Given the description of an element on the screen output the (x, y) to click on. 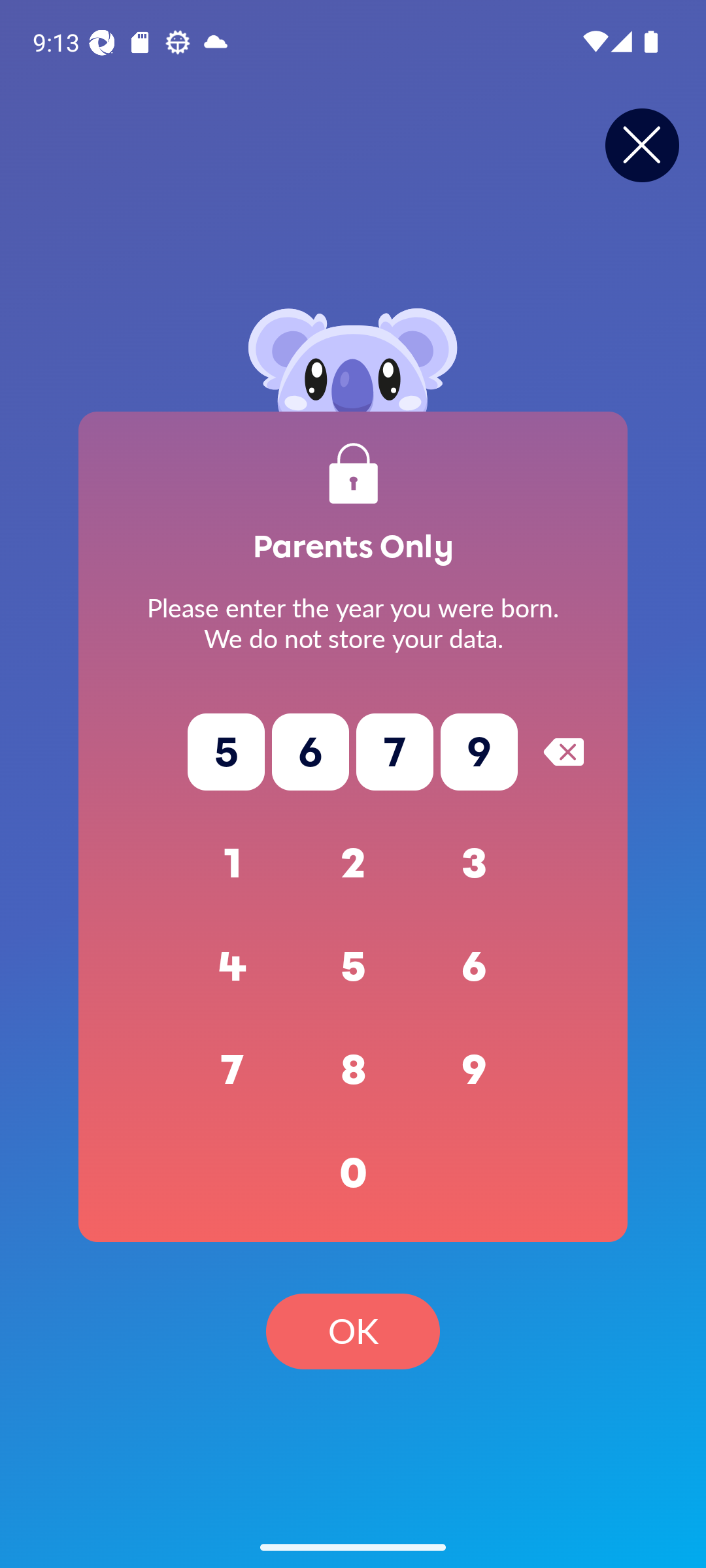
Delete (563, 751)
1 (232, 863)
2 (353, 863)
3 (474, 863)
4 (232, 966)
5 (353, 966)
6 (474, 966)
7 (232, 1069)
8 (353, 1069)
9 (474, 1069)
0 (353, 1173)
OK (352, 1331)
